Given the description of an element on the screen output the (x, y) to click on. 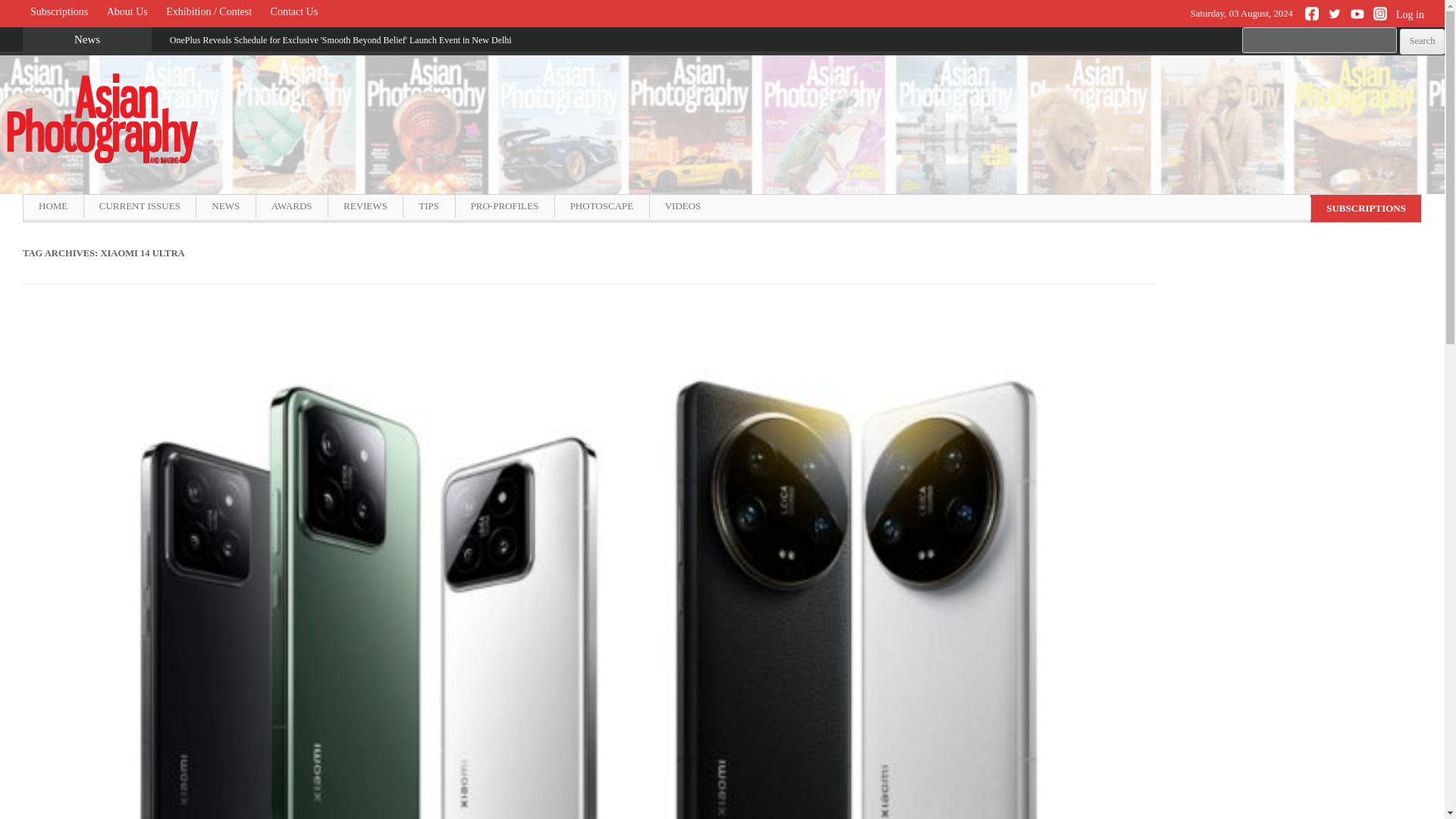
AWARDS (291, 205)
NEWS (224, 205)
About Us (127, 12)
Contact Us (294, 12)
Subscriptions (59, 12)
Log in (1415, 22)
PHOTOSCAPE (601, 205)
SUBSCRIPTIONS (1365, 208)
CURRENT ISSUES (138, 205)
VIDEOS (682, 205)
TIPS (428, 205)
HOME (52, 205)
PRO-PROFILES (504, 205)
